Given the description of an element on the screen output the (x, y) to click on. 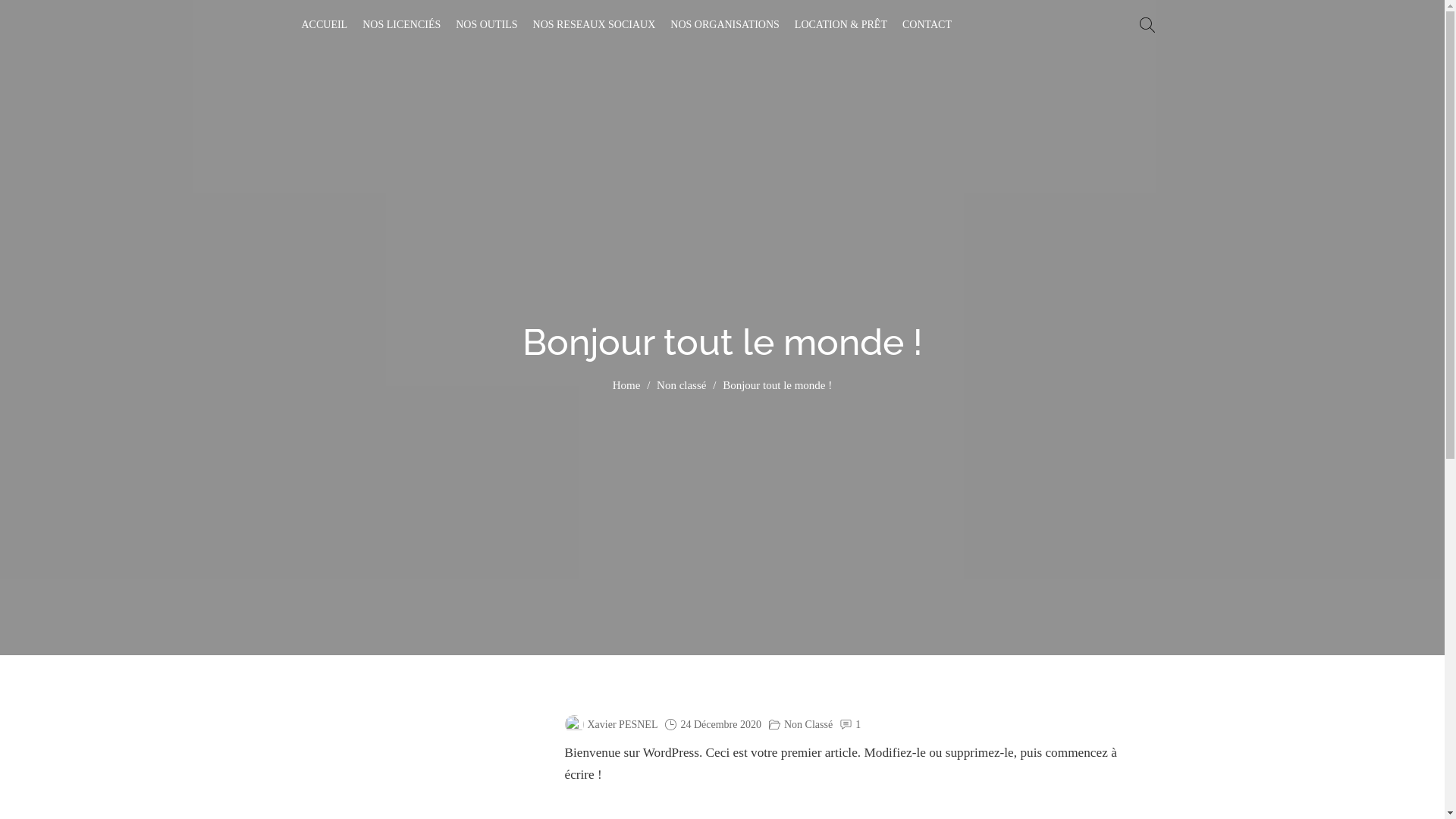
Rechercher Element type: text (1098, 89)
Xavier PESNEL Element type: text (610, 724)
Home Element type: text (626, 385)
Ultracycling Aventure Element type: text (381, 37)
ACCUEIL Element type: text (324, 24)
NOS ORGANISATIONS Element type: text (724, 24)
CONTACT Element type: text (926, 24)
1 Element type: text (857, 724)
NOS OUTILS Element type: text (486, 24)
NOS RESEAUX SOCIAUX Element type: text (594, 24)
